Given the description of an element on the screen output the (x, y) to click on. 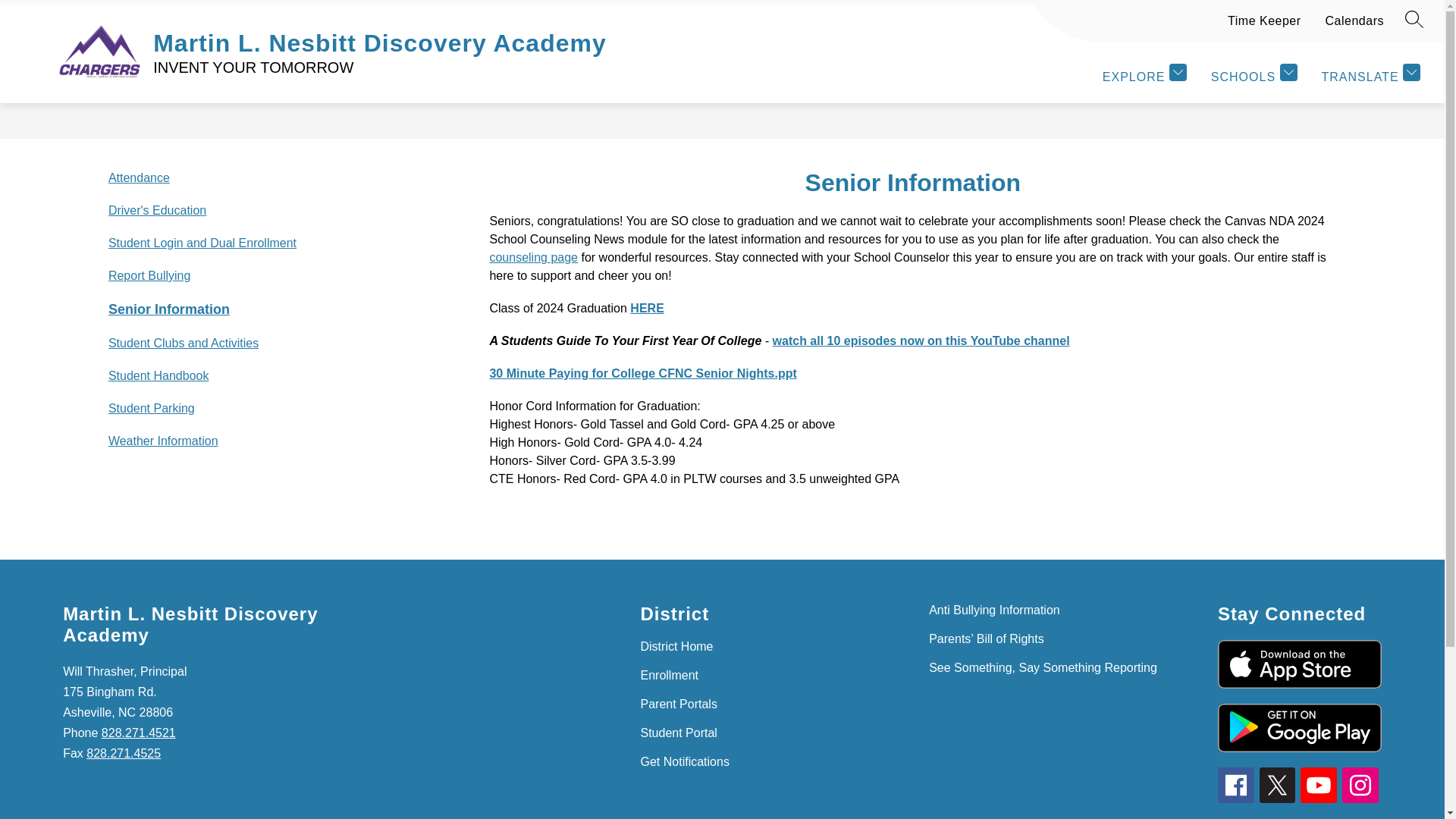
ACADEMICS (523, 38)
TRANSLATE (1370, 74)
Time Keeper (1264, 27)
OUR SCHOOL (387, 38)
EXPLORE (1144, 74)
Calendars (1354, 27)
SCHOOLS (1254, 74)
ACADEMICS (523, 39)
OUR SCHOOL (387, 39)
